Given the description of an element on the screen output the (x, y) to click on. 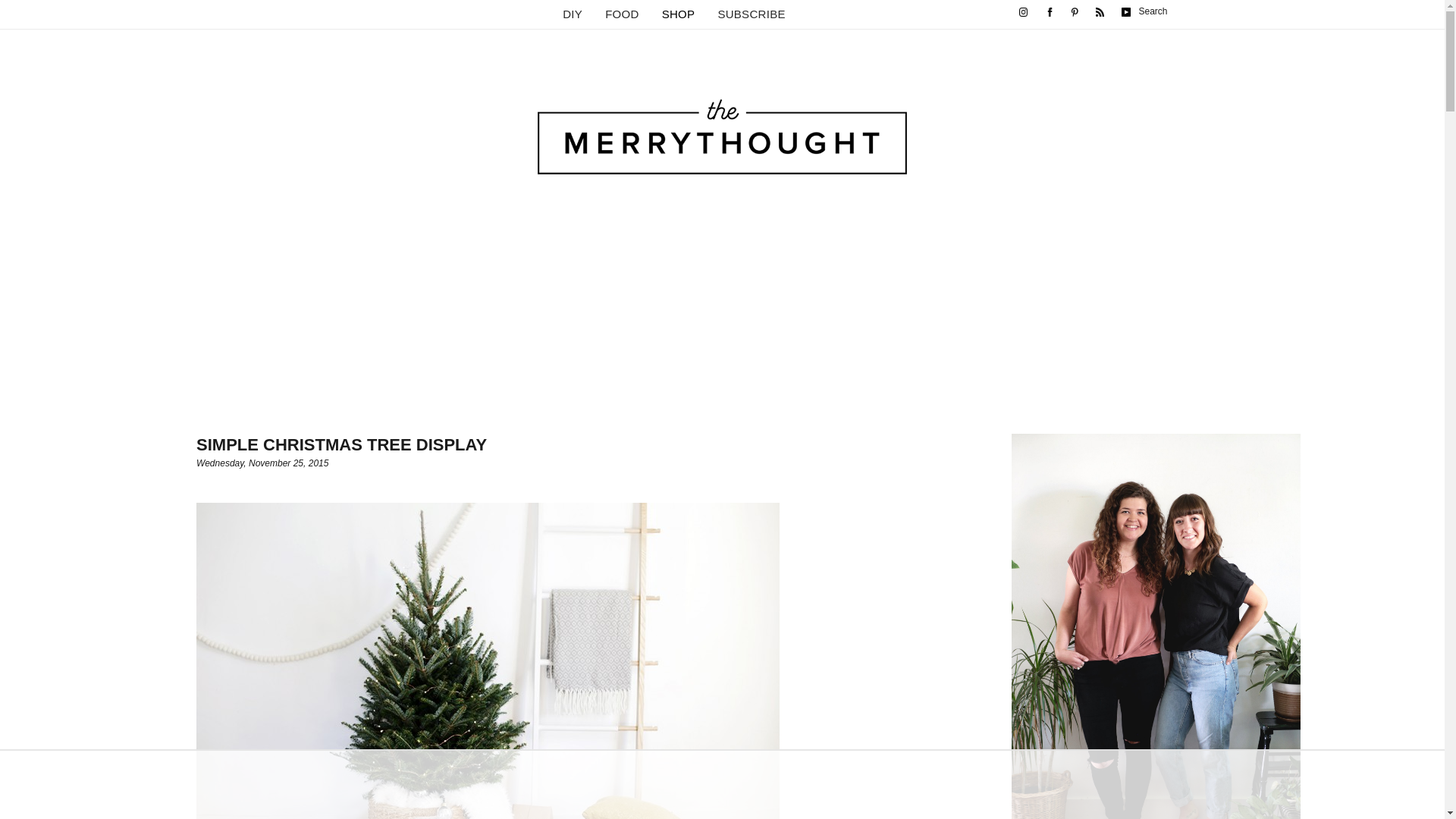
FOOD (622, 13)
SUBSCRIBE (750, 13)
DIY (572, 13)
